Given the description of an element on the screen output the (x, y) to click on. 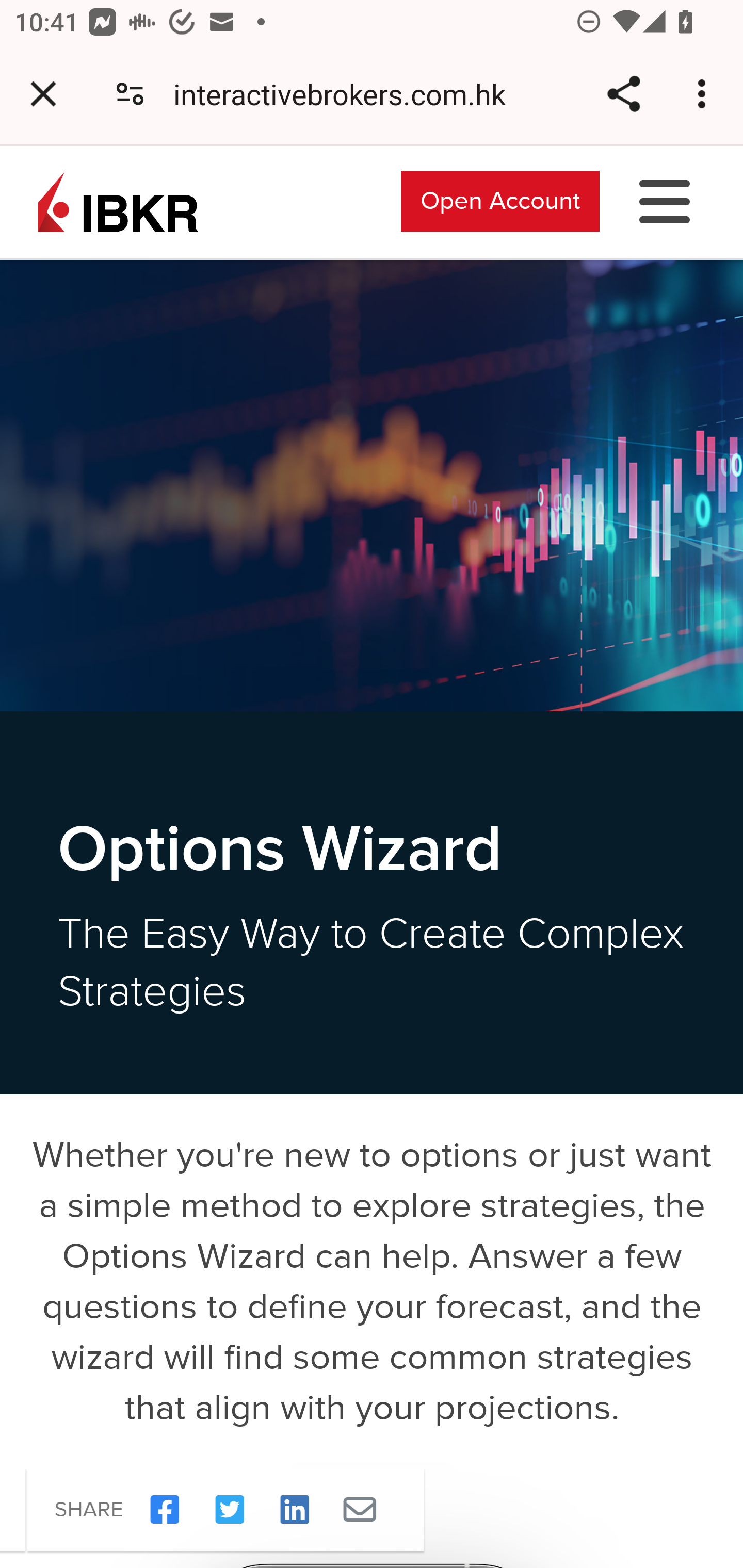
Close tab (43, 93)
Share (623, 93)
Customize and control Google Chrome (705, 93)
Connection is secure (129, 93)
interactivebrokers.com.hk (346, 93)
Interactive Brokers Home (117, 200)
Open Account (500, 200)
Toggle Navigation (665, 200)
Share on Facebook  (142, 1509)
Share on Twitter  (208, 1509)
Share on Linkedin  (272, 1509)
Share by Email  (338, 1509)
